Given the description of an element on the screen output the (x, y) to click on. 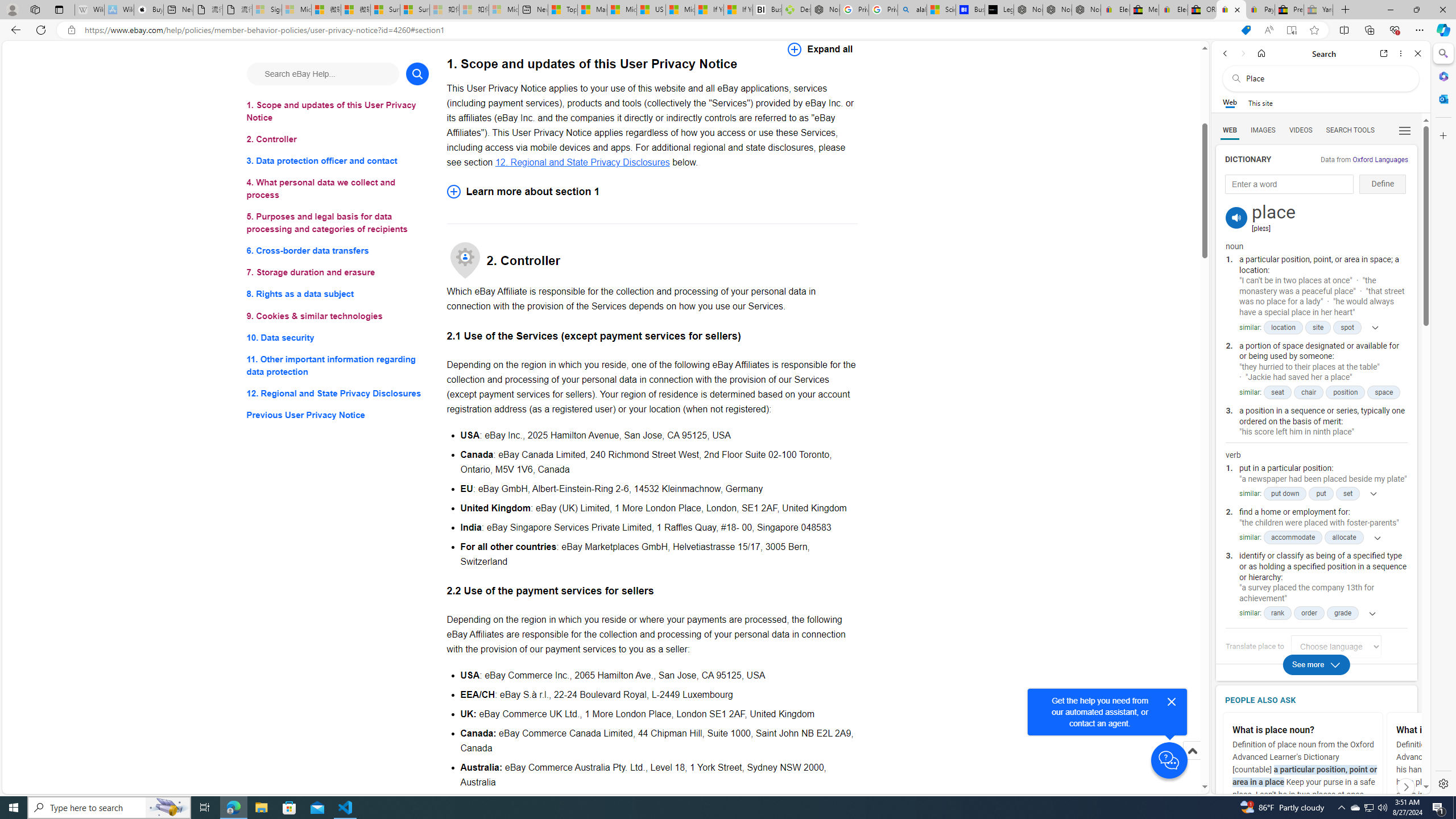
6. Cross-border data transfers (337, 250)
Payments Terms of Use | eBay.com (1259, 9)
Sign in to your Microsoft account - Sleeping (266, 9)
site (1317, 327)
11. Other important information regarding data protection (337, 365)
Enter Immersive Reader (F9) (1291, 29)
location (1283, 327)
12. Regional and State Privacy Disclosures (337, 392)
WEB   (1230, 130)
Search Filter, Search Tools (1350, 129)
